Given the description of an element on the screen output the (x, y) to click on. 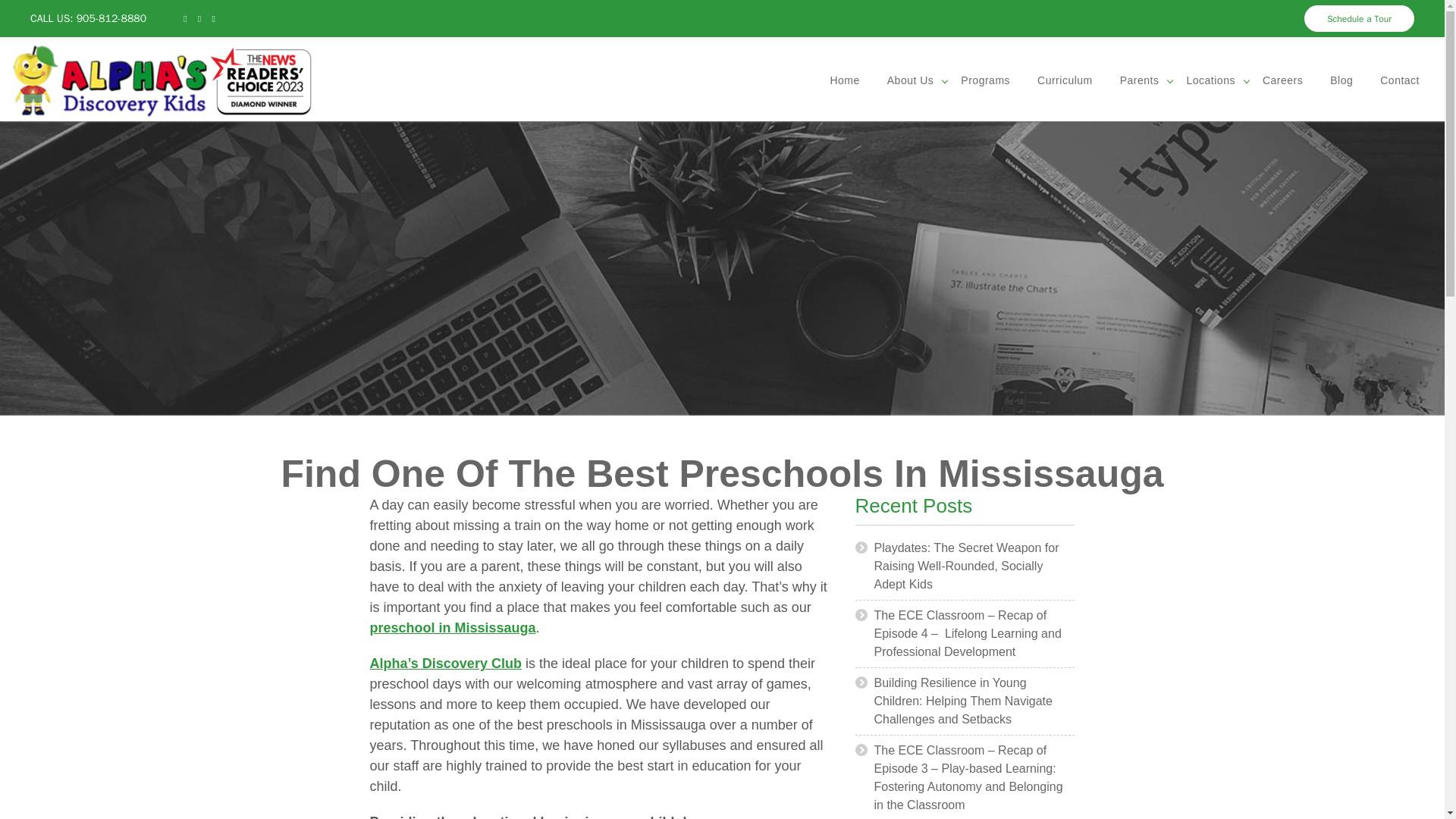
Blog (1341, 80)
Programs (985, 80)
Schedule a Tour (1358, 17)
Curriculum (1064, 80)
Contact (1399, 80)
Parents (1139, 80)
905-812-8880 (112, 18)
preschool in Mississauga (452, 627)
